Given the description of an element on the screen output the (x, y) to click on. 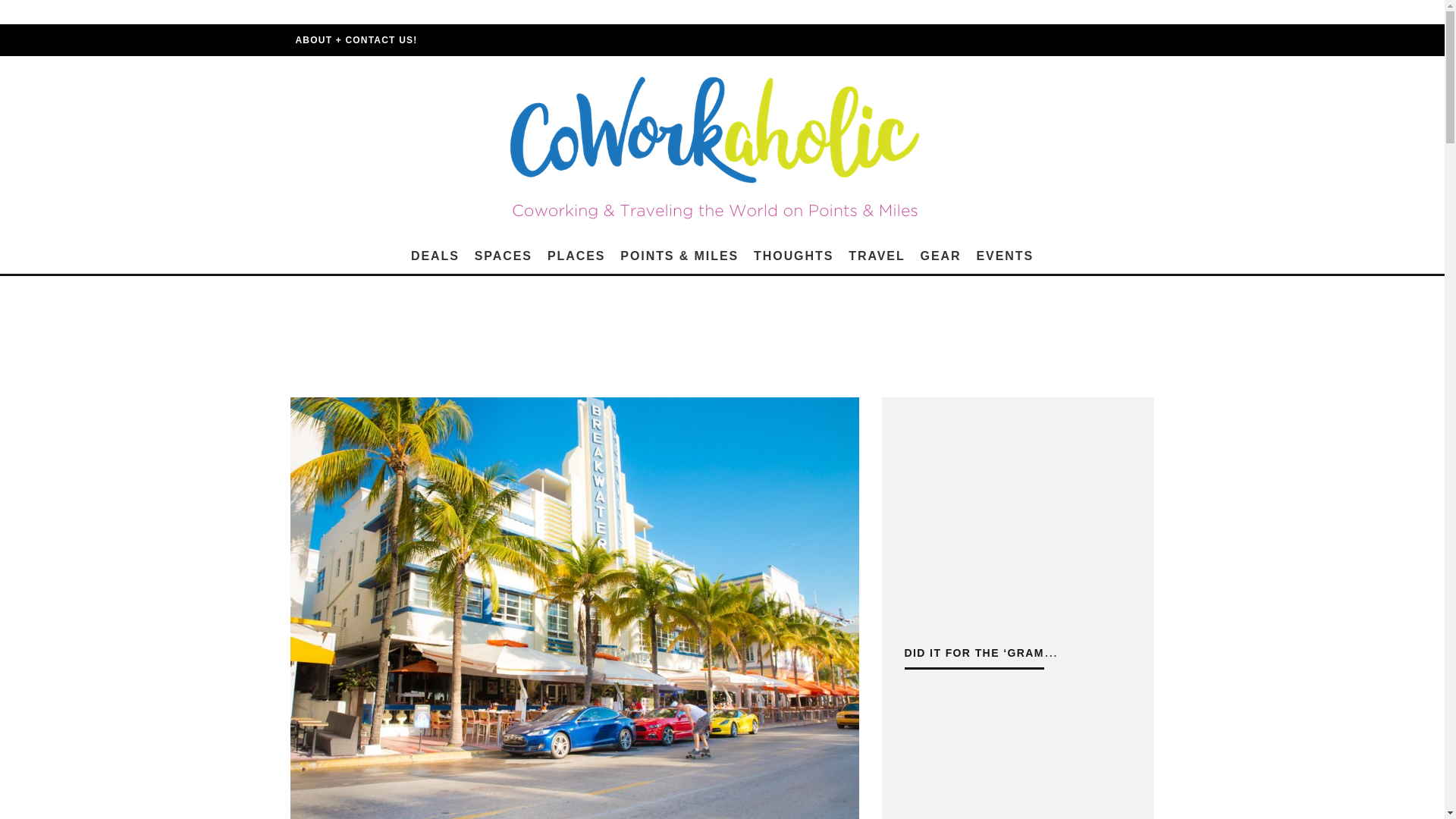
SPACES (503, 256)
DEALS (435, 256)
PLACES (576, 256)
